Given the description of an element on the screen output the (x, y) to click on. 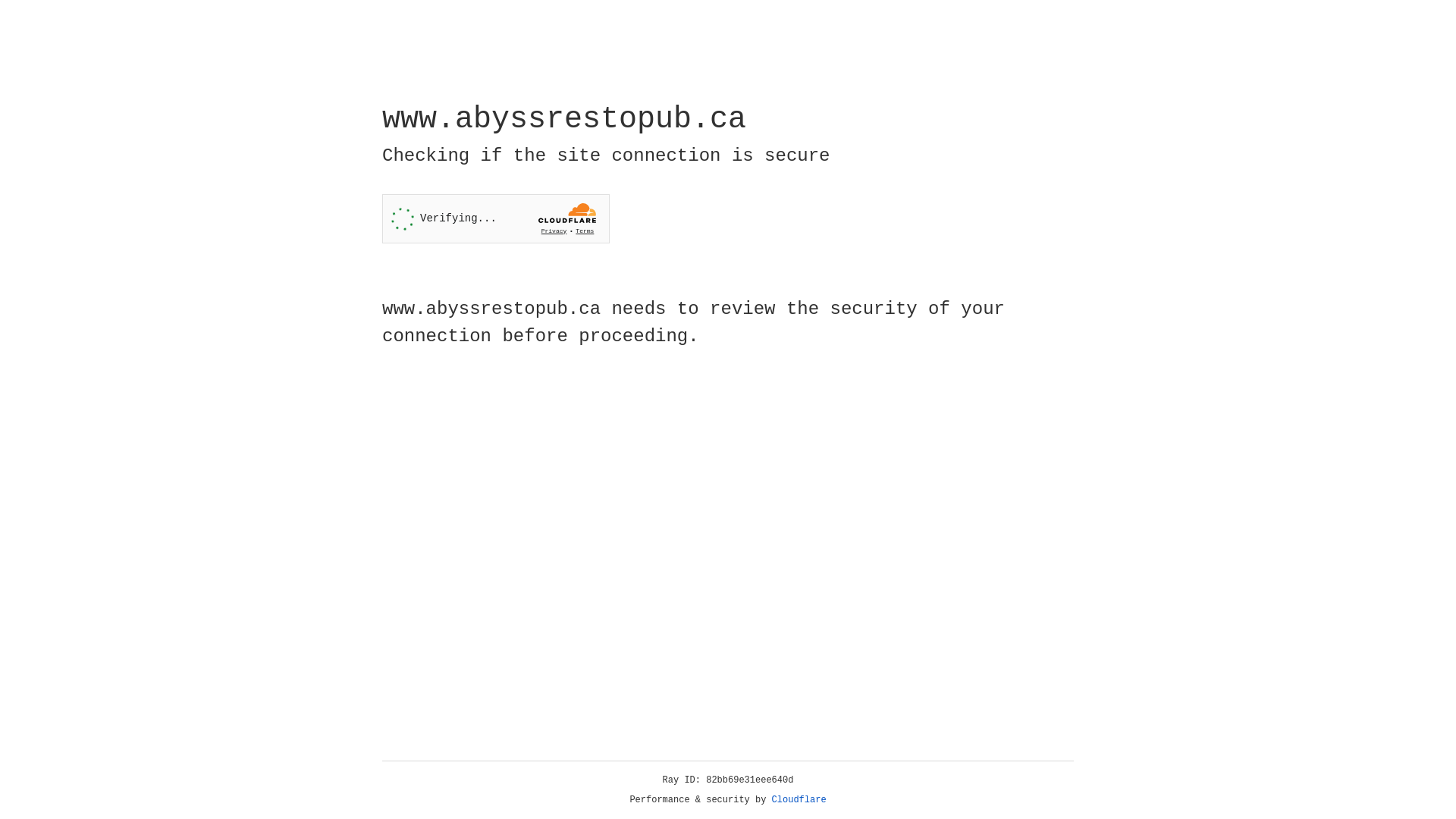
Cloudflare Element type: text (798, 799)
Widget containing a Cloudflare security challenge Element type: hover (495, 218)
